Given the description of an element on the screen output the (x, y) to click on. 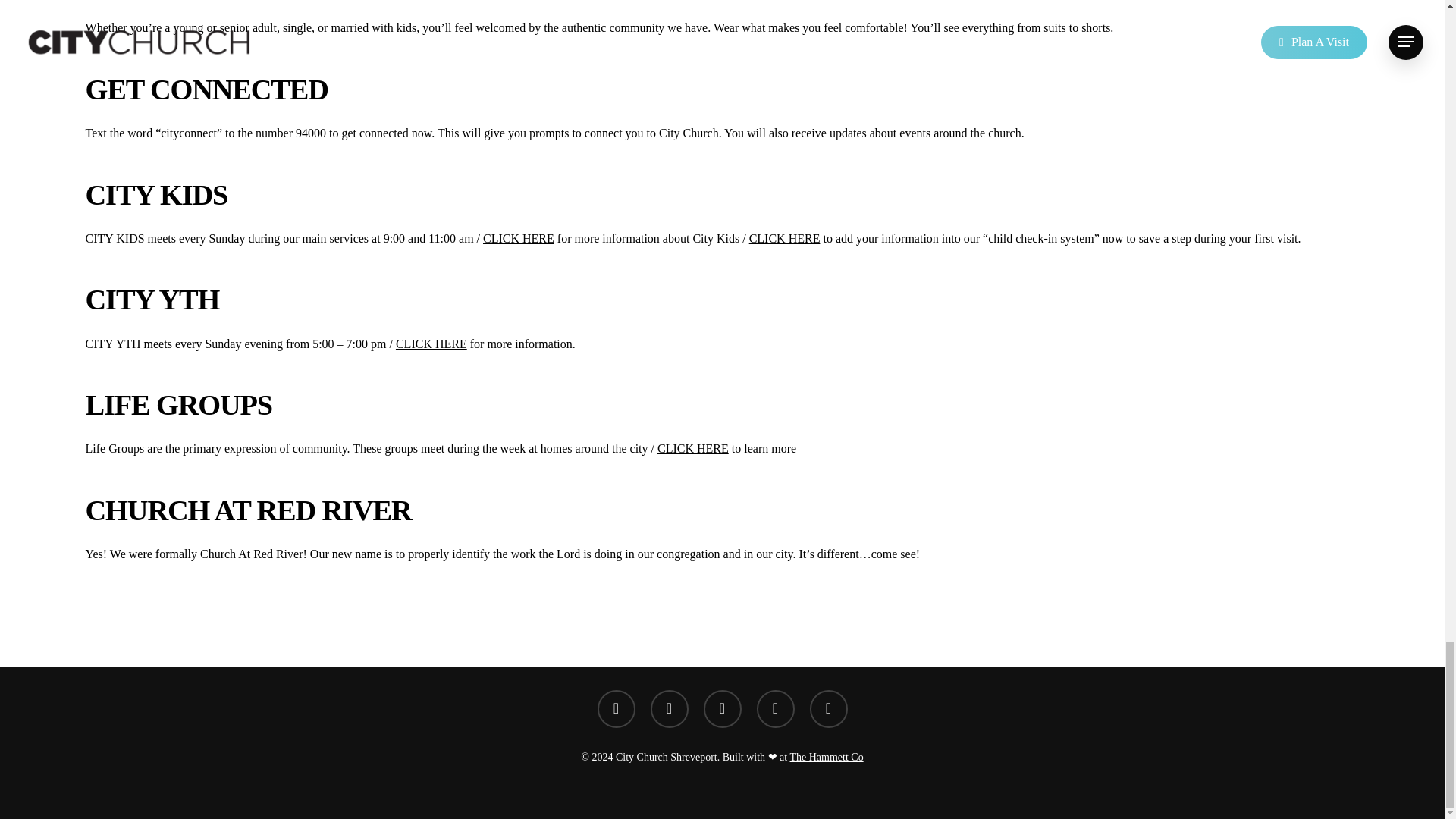
CLICK HERE (693, 448)
email (828, 709)
CLICK HERE (785, 237)
facebook (615, 709)
instagram (722, 709)
CLICK HERE (431, 343)
The Hammett Co (826, 756)
youtube (669, 709)
phone (775, 709)
CLICK HERE (518, 237)
